Given the description of an element on the screen output the (x, y) to click on. 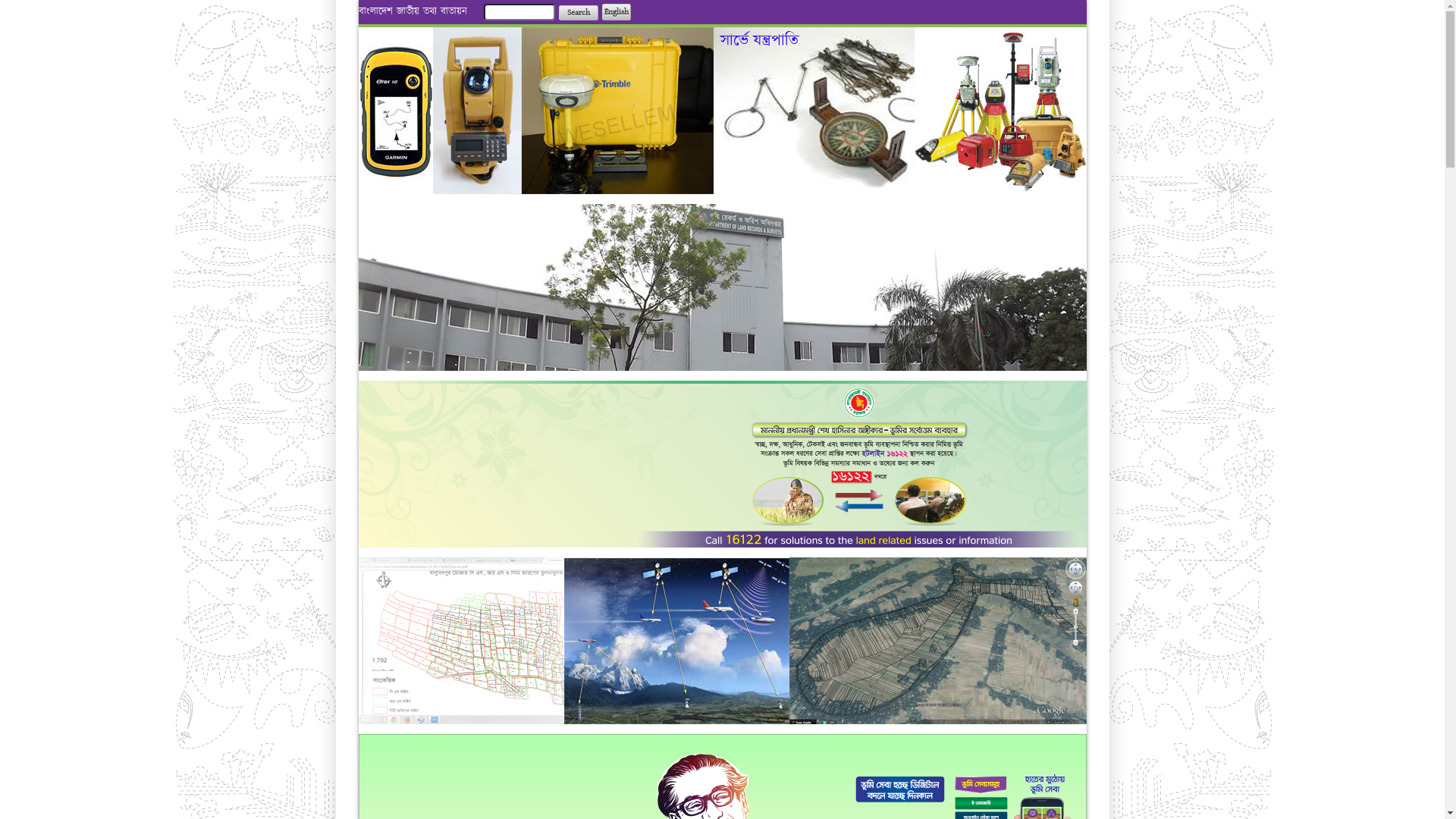
Search Element type: text (577, 12)
English Element type: text (616, 11)
